Given the description of an element on the screen output the (x, y) to click on. 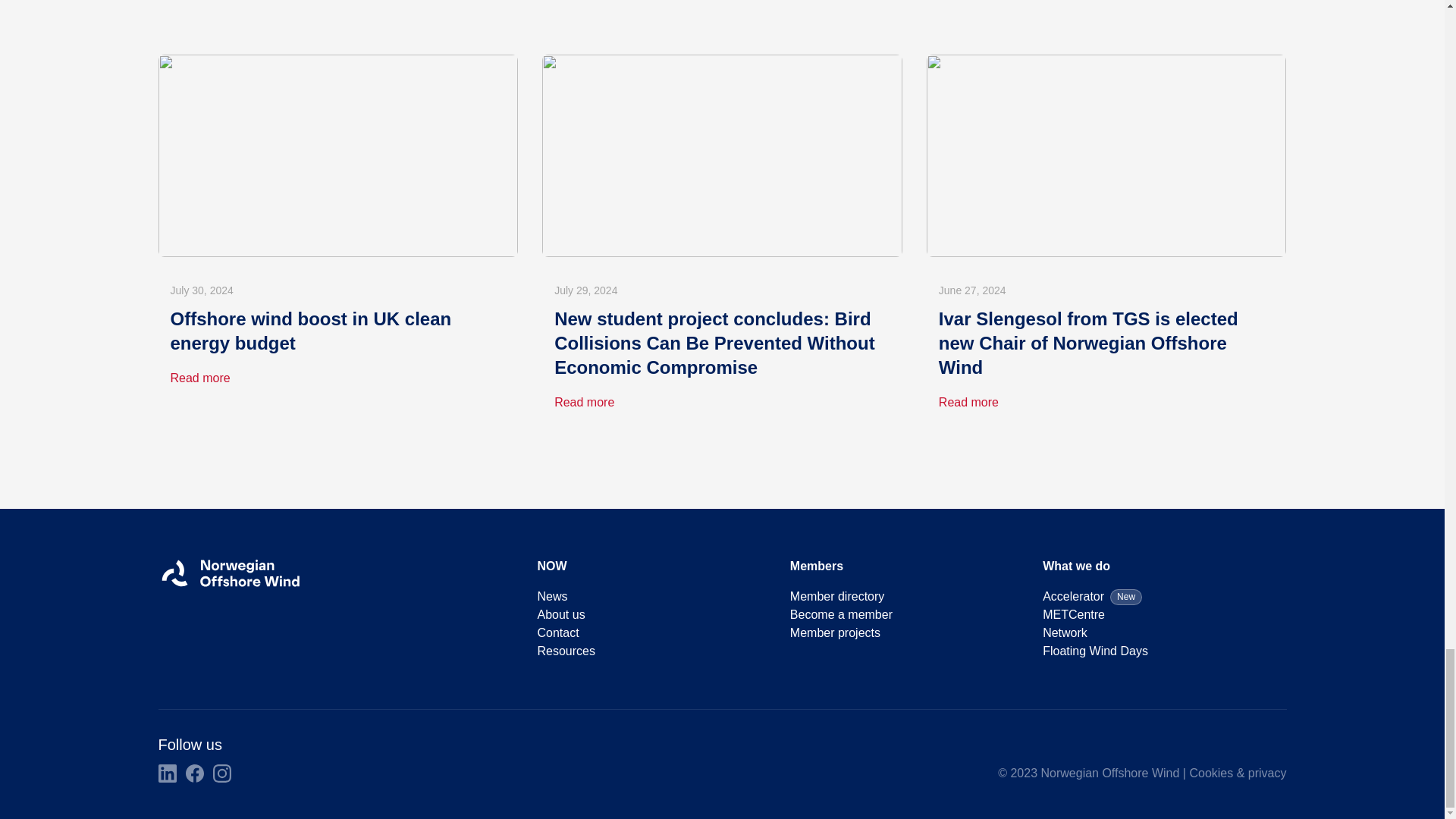
Contact (557, 632)
News (552, 595)
Read more (968, 401)
About us (561, 614)
Read more (584, 401)
Read more (200, 377)
